Given the description of an element on the screen output the (x, y) to click on. 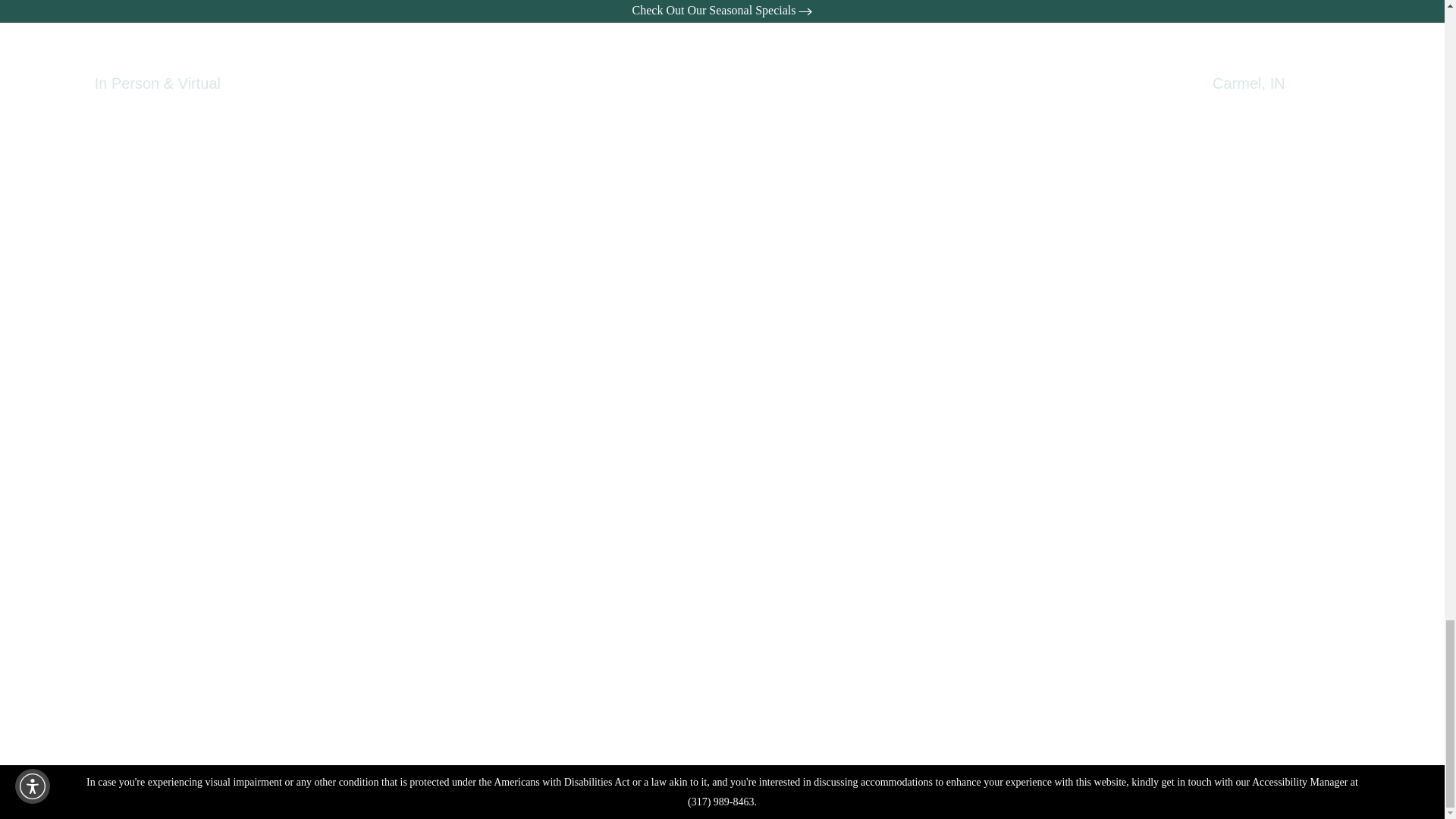
Submit Form (939, 333)
